Given the description of an element on the screen output the (x, y) to click on. 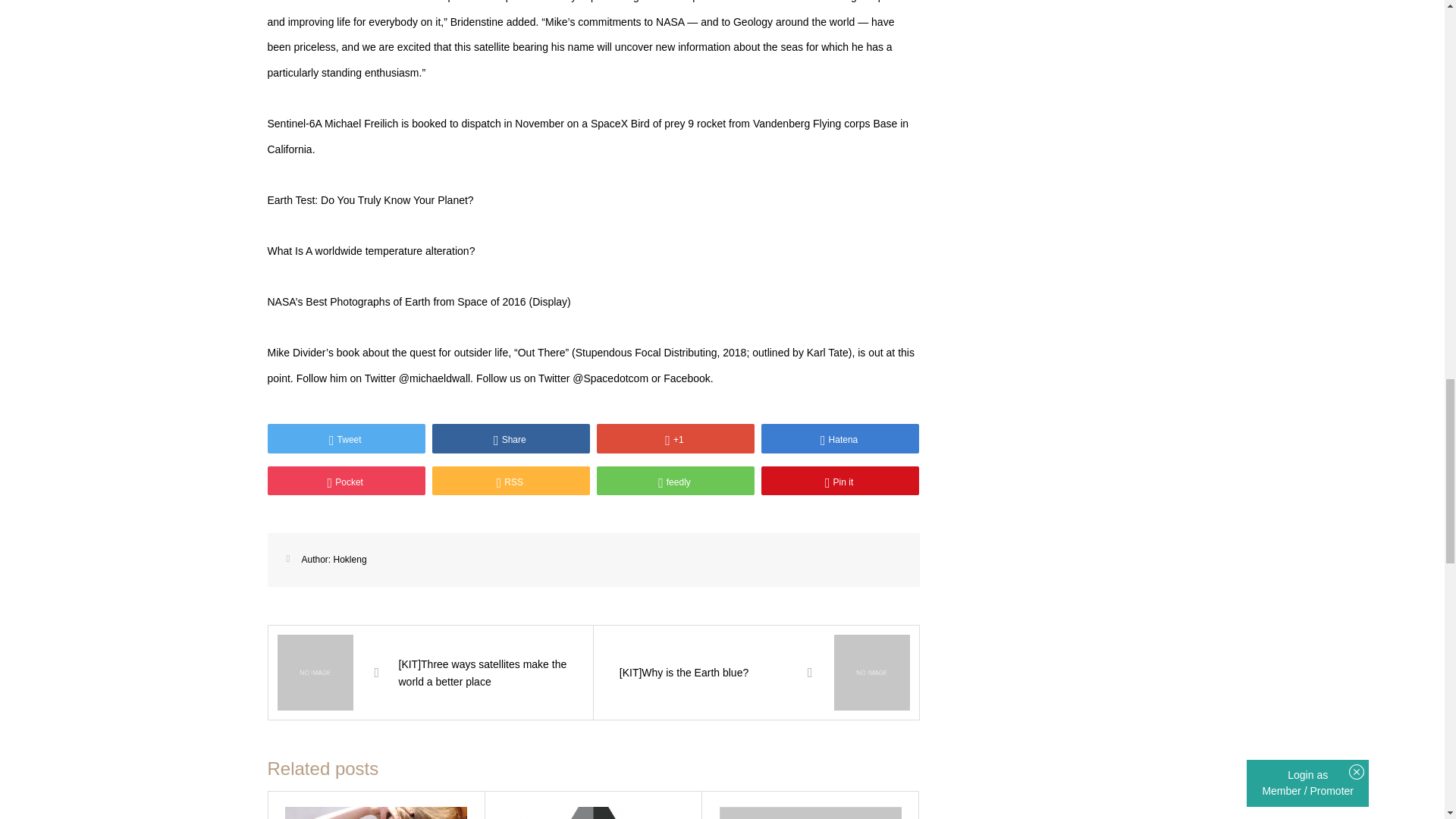
Posts by Hokleng (349, 559)
